Given the description of an element on the screen output the (x, y) to click on. 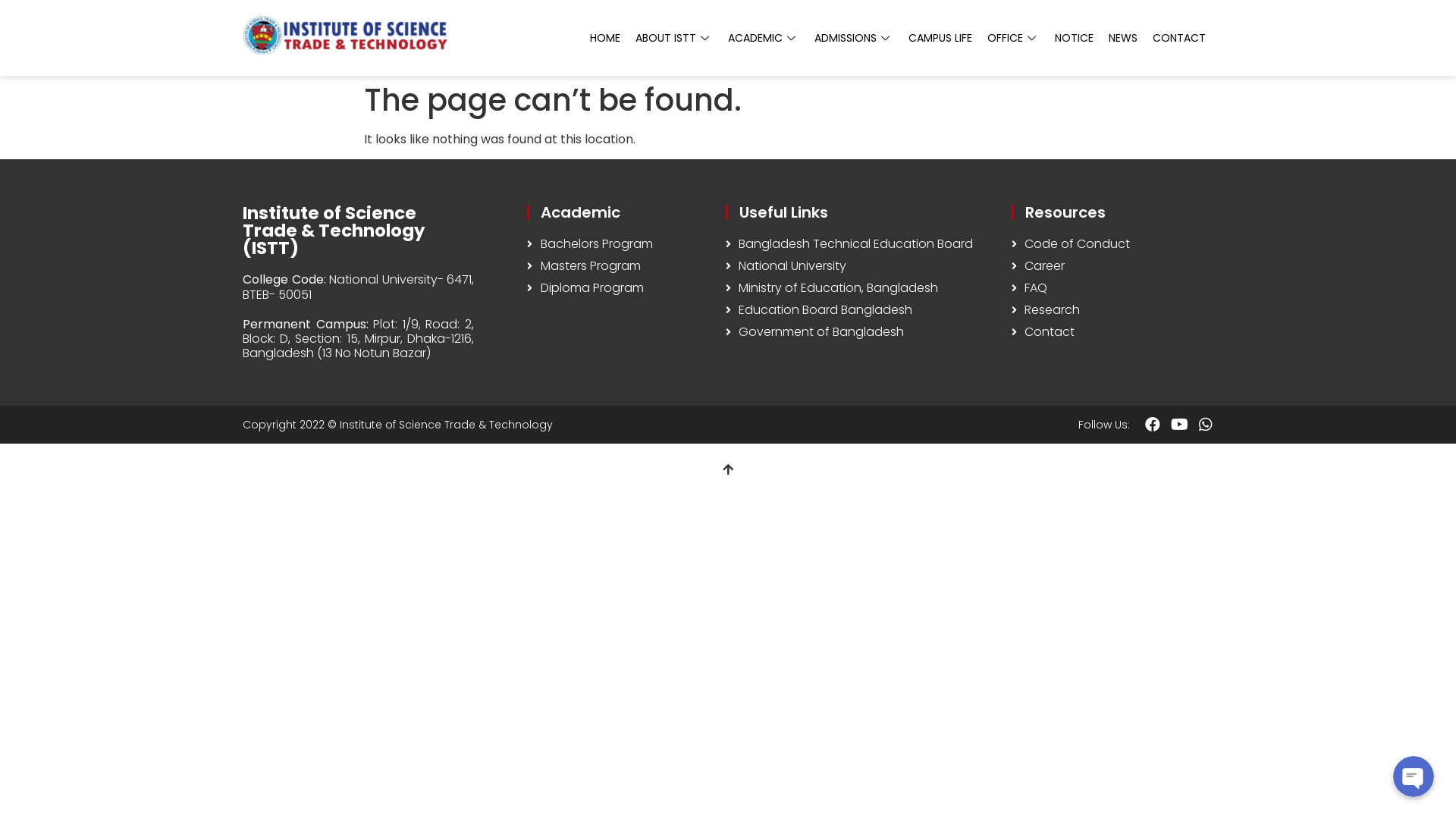
ACADEMIC Element type: text (763, 37)
Code of Conduct Element type: text (1112, 244)
Career Element type: text (1112, 266)
FAQ Element type: text (1112, 288)
CONTACT Element type: text (1179, 37)
Bachelors Program Element type: text (618, 244)
Institute of Science Trade & Technology Element type: text (445, 424)
Masters Program Element type: text (618, 266)
Diploma Program Element type: text (618, 288)
Ministry of Education, Bangladesh Element type: text (860, 288)
Research Element type: text (1112, 310)
Institute of Science Trade & Technology (ISTT) Element type: text (333, 230)
Bangladesh Technical Education Board Element type: text (860, 244)
Government of Bangladesh Element type: text (860, 332)
HOME Element type: text (604, 37)
ADMISSIONS Element type: text (853, 37)
Education Board Bangladesh Element type: text (860, 310)
NEWS Element type: text (1123, 37)
National University Element type: text (860, 266)
ABOUT ISTT Element type: text (673, 37)
Contact Element type: text (1112, 332)
CAMPUS LIFE Element type: text (939, 37)
NOTICE Element type: text (1074, 37)
OFFICE Element type: text (1013, 37)
